Given the description of an element on the screen output the (x, y) to click on. 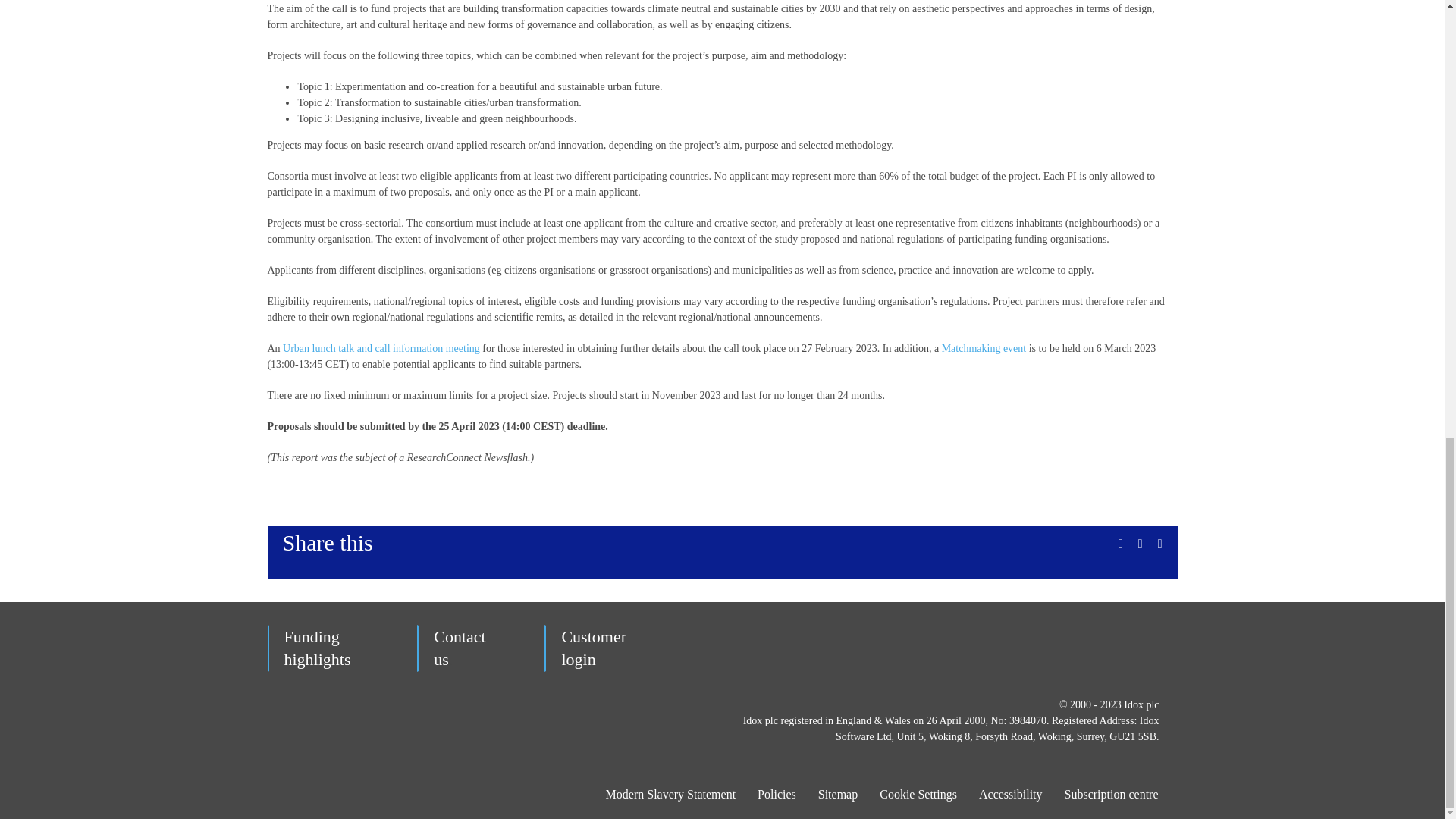
Matchmaking event (593, 648)
Urban lunch talk and call information meeting (984, 348)
Policies (316, 648)
Modern Slavery Statement (458, 648)
